Given the description of an element on the screen output the (x, y) to click on. 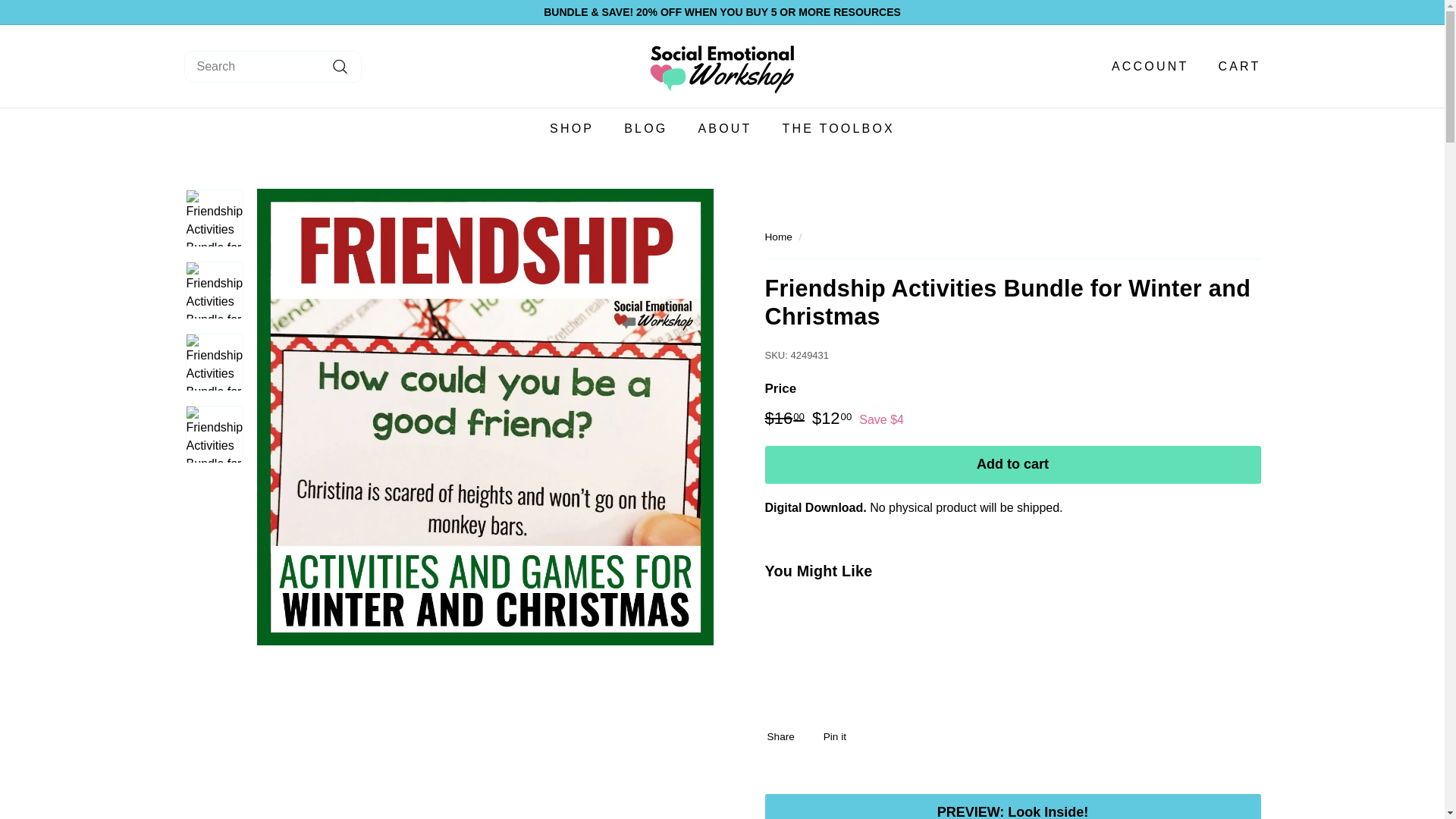
THE TOOLBOX (838, 128)
ABOUT (724, 128)
Pin on Pinterest (839, 737)
Share on Facebook (784, 737)
Back to the frontpage (778, 236)
CART (1232, 66)
ACCOUNT (1144, 66)
BLOG (645, 128)
